Given the description of an element on the screen output the (x, y) to click on. 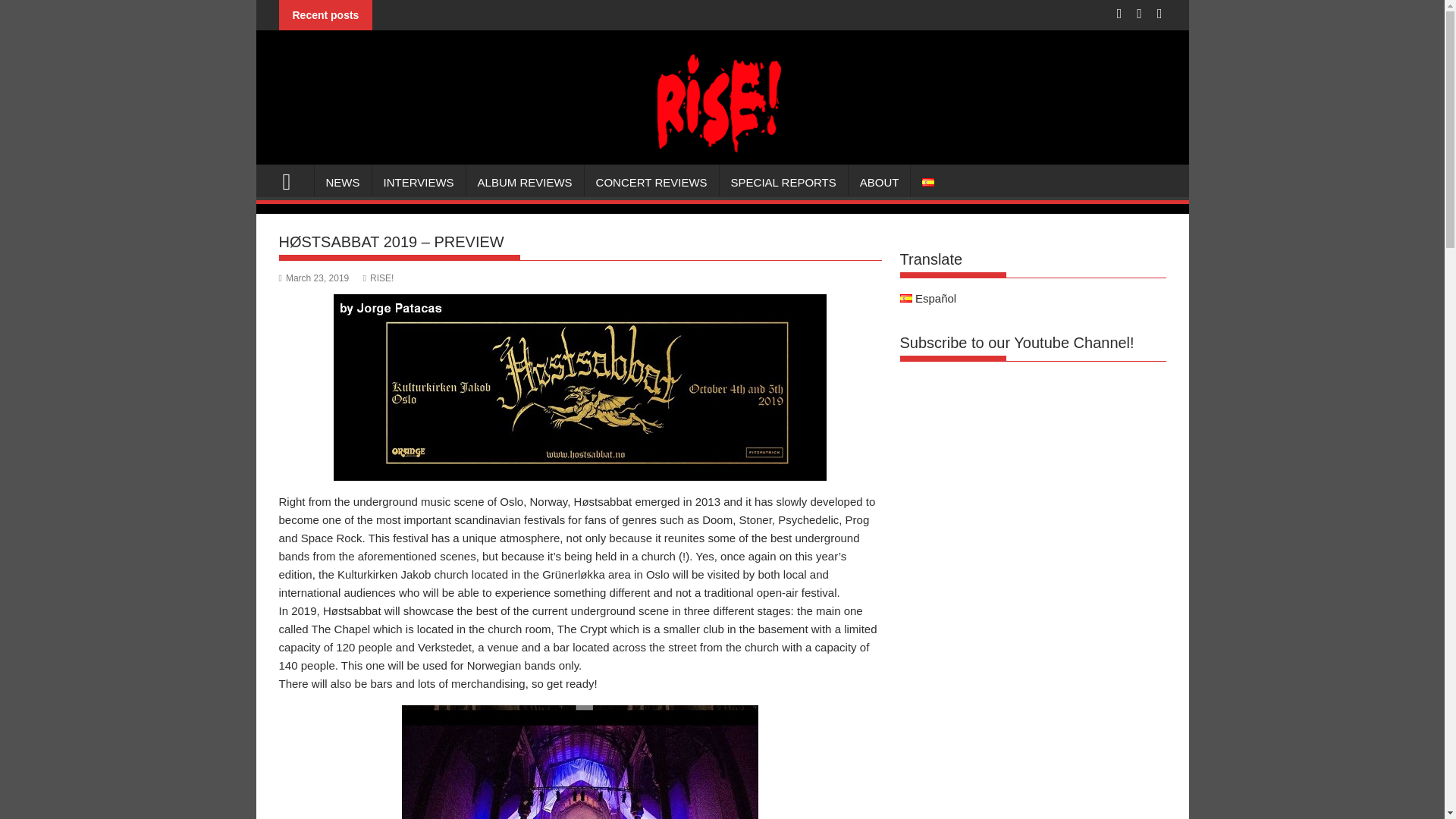
RISE! (378, 277)
ALBUM REVIEWS (524, 182)
NEWS (342, 182)
RISE! (293, 179)
ABOUT (879, 182)
CONCERT REVIEWS (652, 182)
RISE! (722, 154)
SPECIAL REPORTS (783, 182)
March 23, 2019 (314, 277)
INTERVIEWS (417, 182)
